Given the description of an element on the screen output the (x, y) to click on. 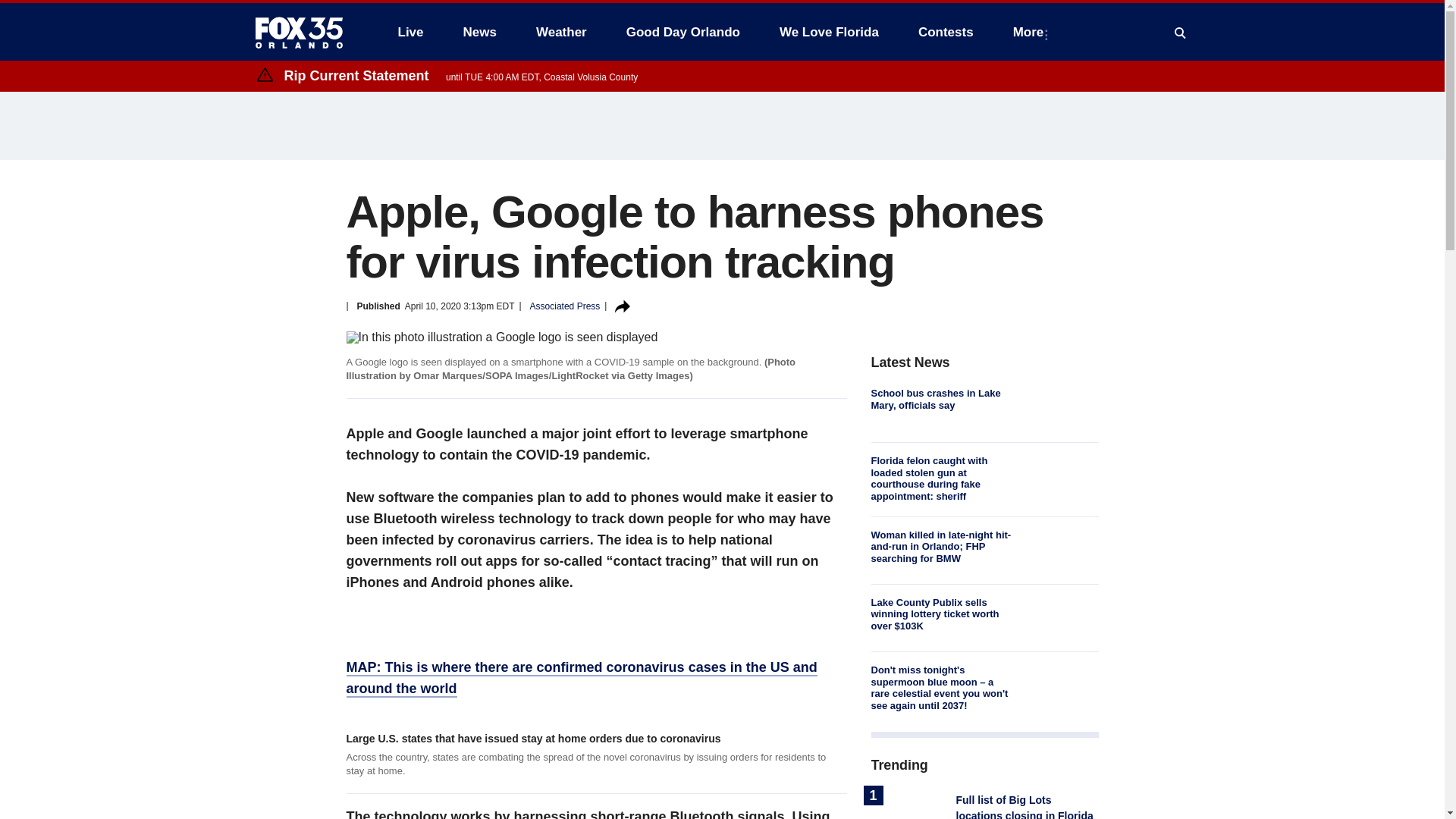
Contests (945, 32)
We Love Florida (829, 32)
Good Day Orlando (683, 32)
Live (410, 32)
Weather (561, 32)
News (479, 32)
More (1031, 32)
